Given the description of an element on the screen output the (x, y) to click on. 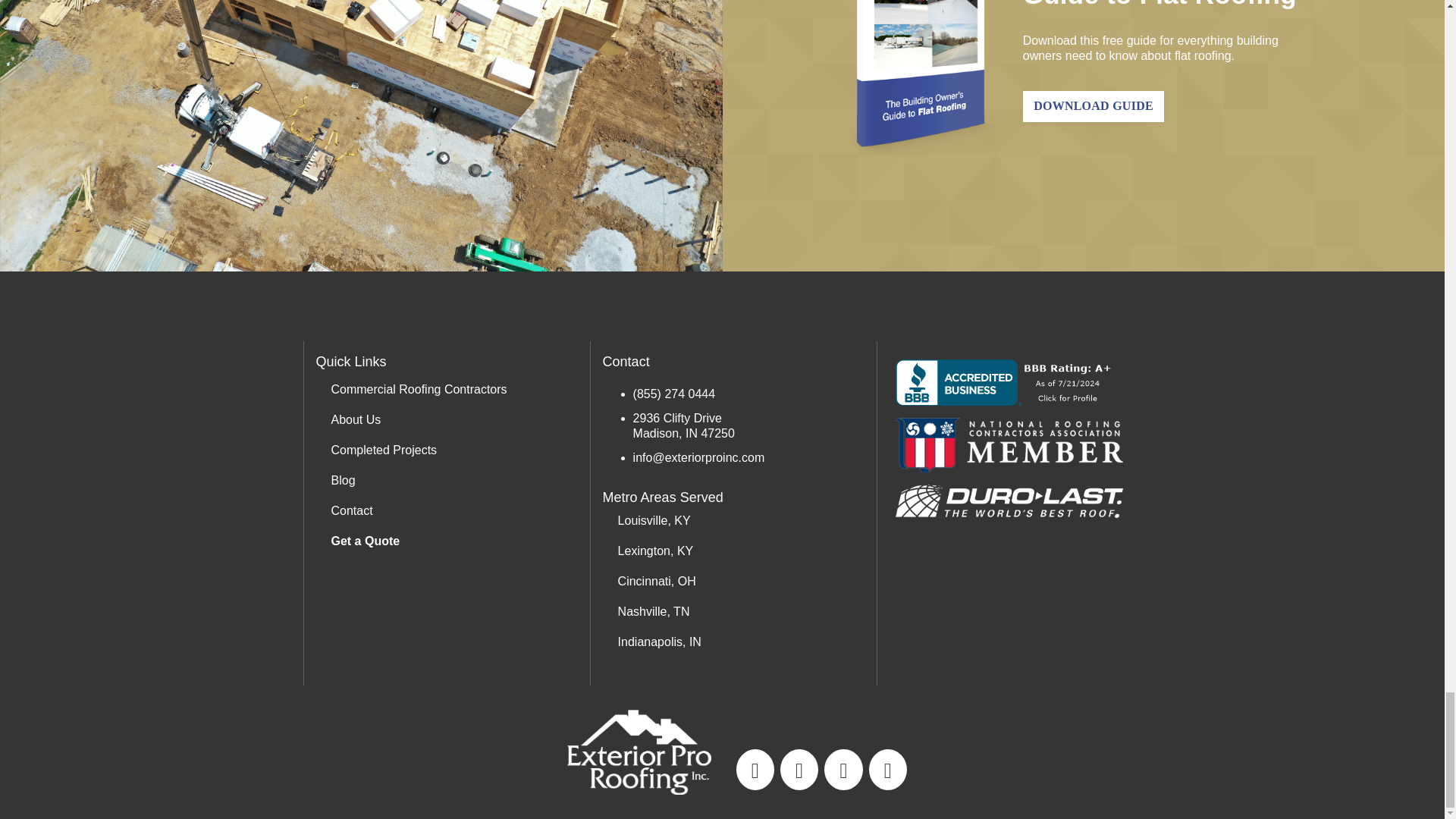
National Roofing Contractors Association Member (1009, 444)
The-Building-Owners-guide-to-Flat-Roofing-3D-Cover (924, 78)
Follow us on Linkedin (843, 767)
Exterior Pro Roofing (639, 752)
Follow us on Twitter (887, 767)
Duro Last (1009, 500)
Follow us on YouTube (754, 767)
Download Guide (1093, 106)
Follow us on Facebook (799, 767)
